Given the description of an element on the screen output the (x, y) to click on. 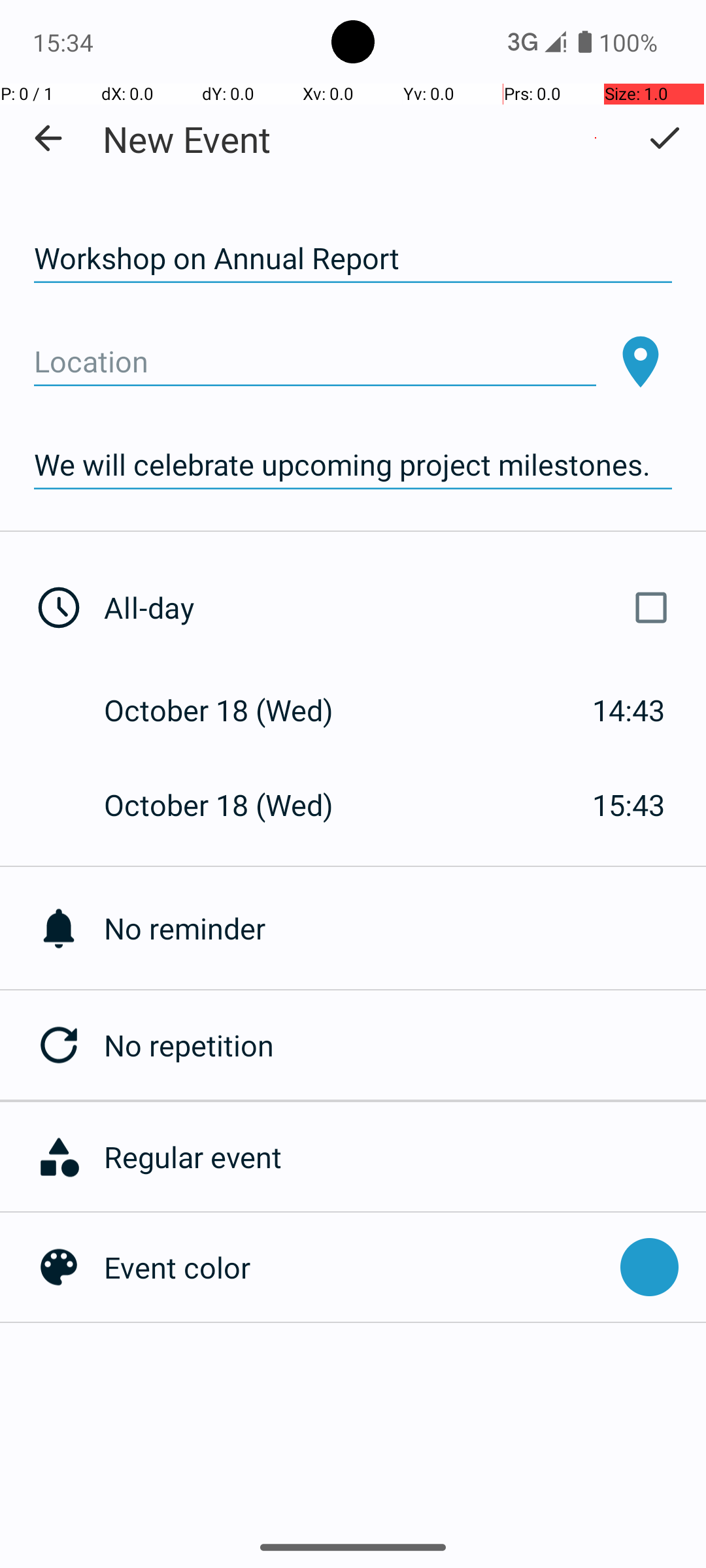
Workshop on Annual Report Element type: android.widget.EditText (352, 258)
We will celebrate upcoming project milestones. Element type: android.widget.EditText (352, 465)
October 18 (Wed) Element type: android.widget.TextView (232, 709)
14:43 Element type: android.widget.TextView (628, 709)
15:43 Element type: android.widget.TextView (628, 804)
